Given the description of an element on the screen output the (x, y) to click on. 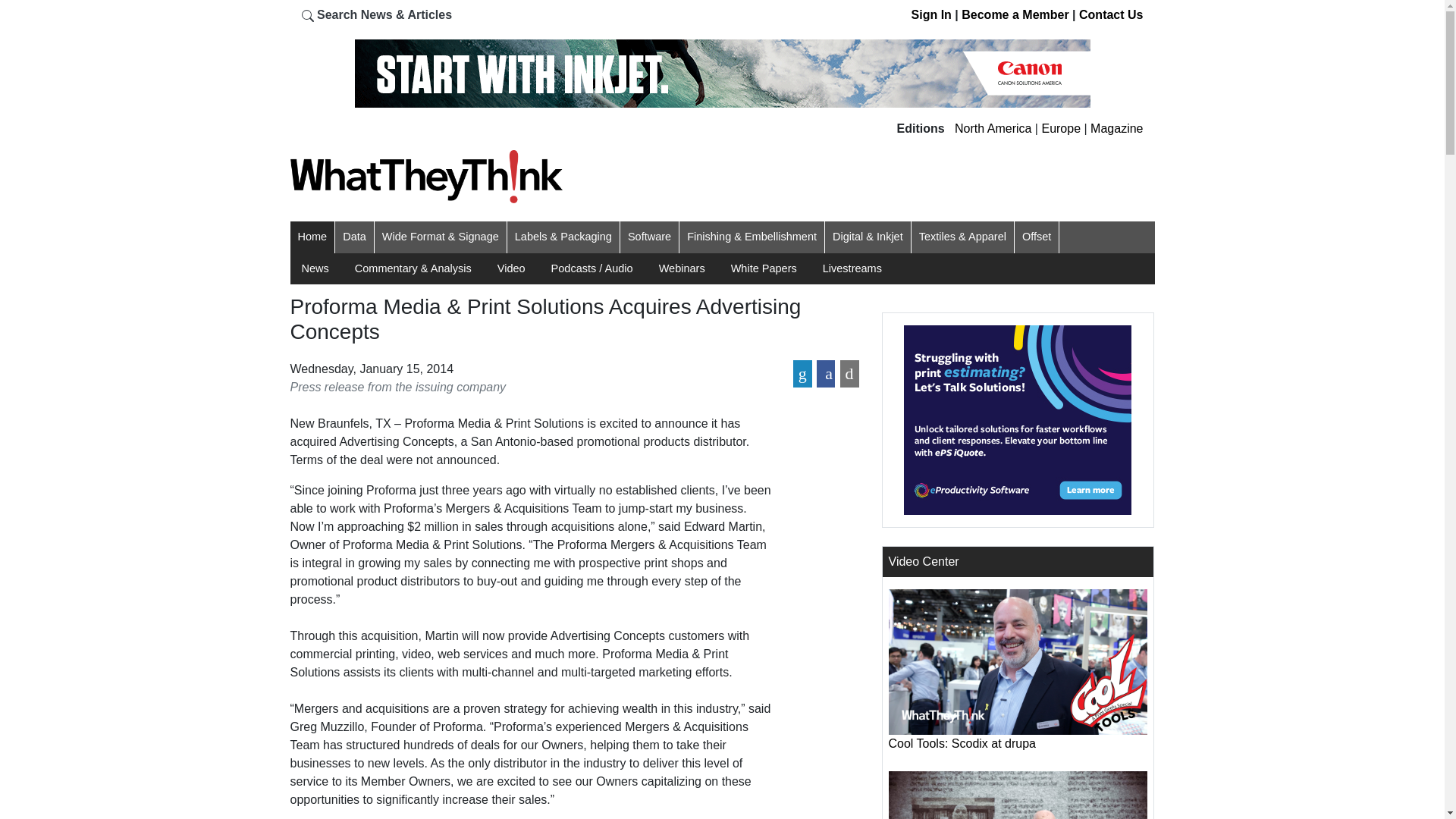
North America (992, 128)
Sign In (931, 14)
Webinars (681, 268)
Video (511, 268)
Become a Member (1014, 14)
Europe (1060, 128)
Magazine (1116, 128)
Home (311, 237)
Data (354, 237)
Contact Us (1110, 14)
News (315, 268)
Livestreams (852, 268)
White Papers (763, 268)
Software (649, 237)
